Given the description of an element on the screen output the (x, y) to click on. 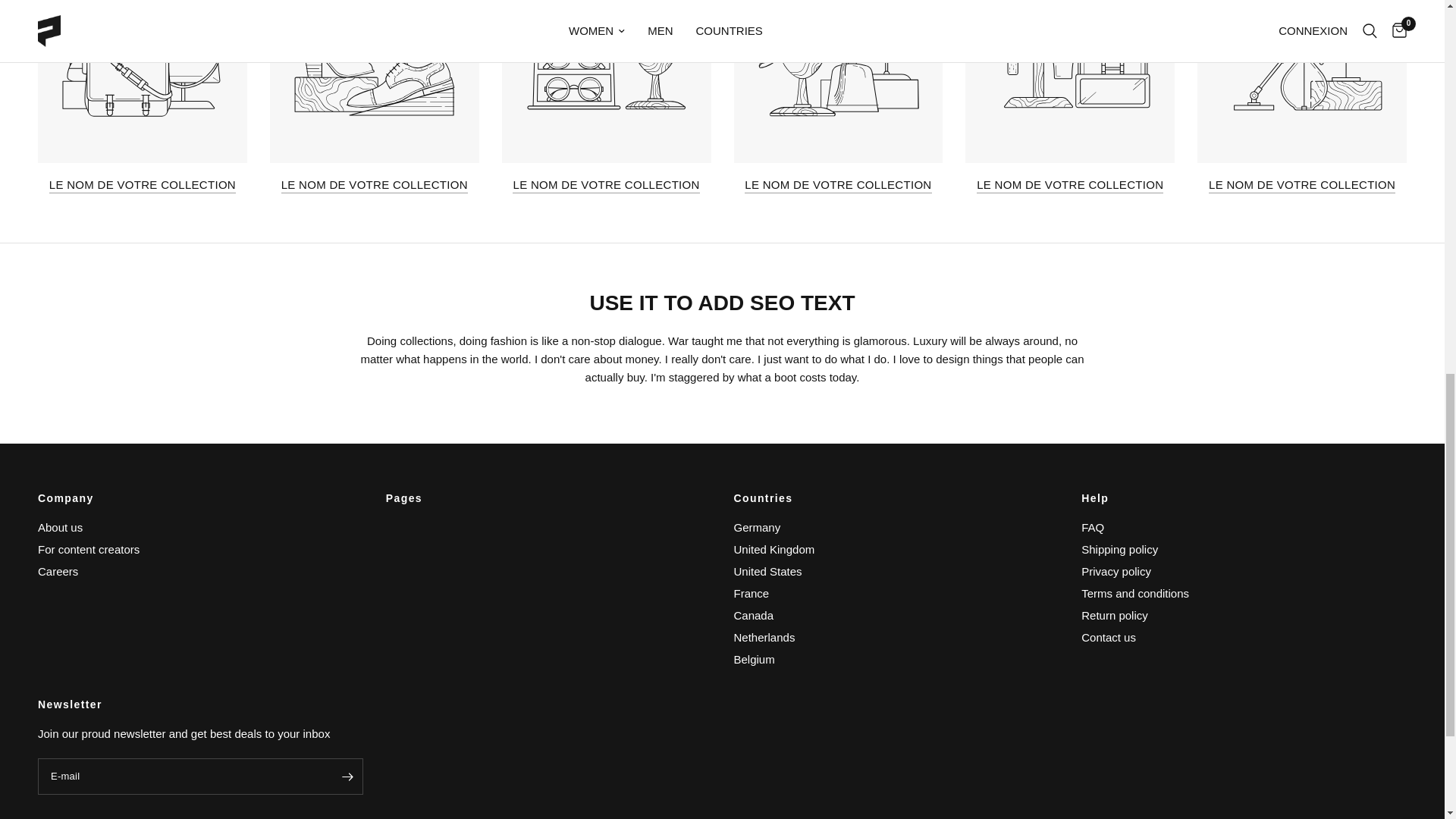
LE NOM DE VOTRE COLLECTION (374, 184)
LE NOM DE VOTRE COLLECTION (142, 184)
LE NOM DE VOTRE COLLECTION (837, 184)
LE NOM DE VOTRE COLLECTION (605, 184)
